Given the description of an element on the screen output the (x, y) to click on. 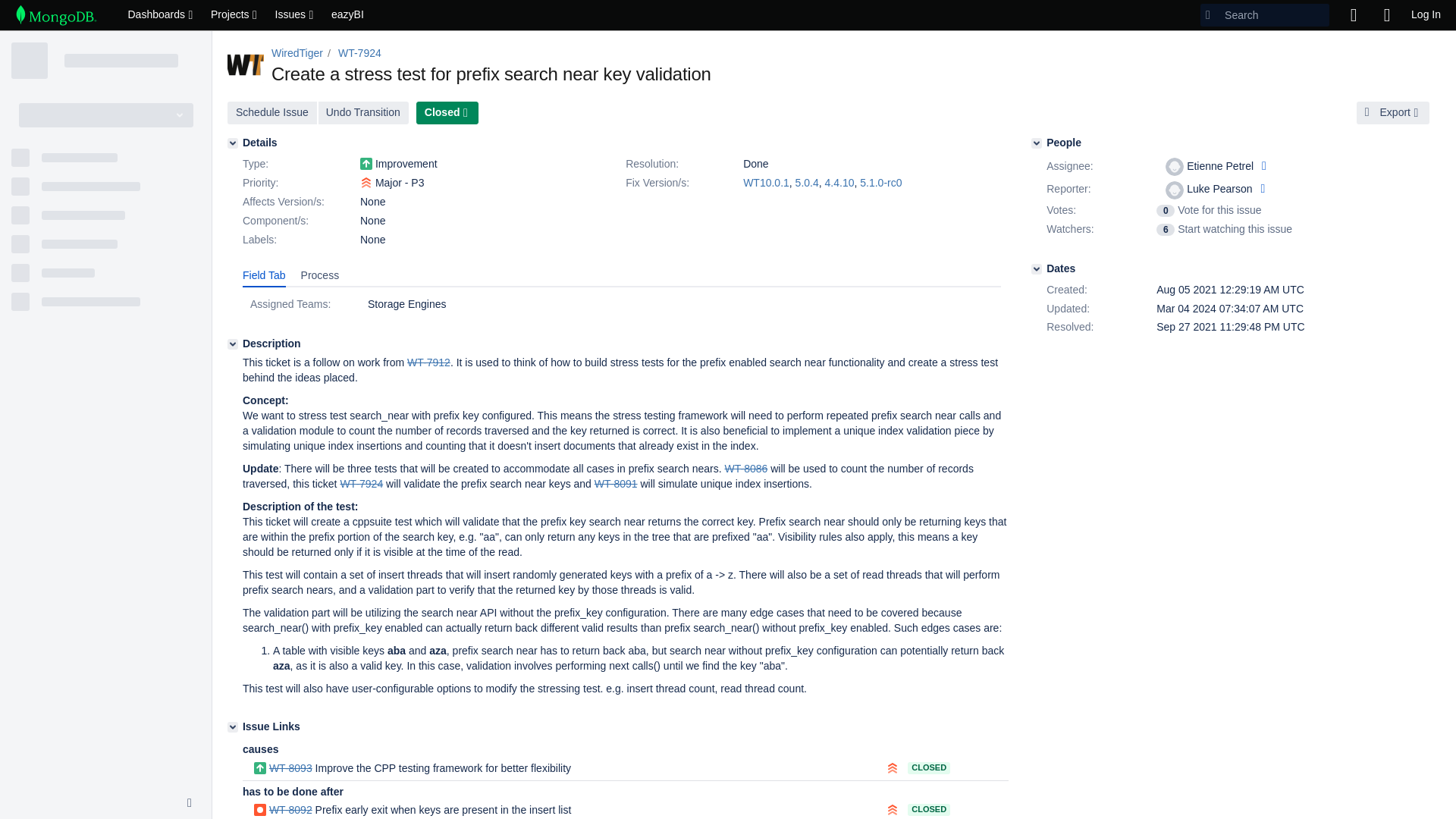
Process (320, 275)
5.1.0-rc0 (880, 182)
Closed (447, 112)
Log In (1425, 15)
View recent projects and browse a list of projects (235, 15)
5.1.0-rc0  (880, 182)
Give feedback to Atlassian (1353, 15)
Projects (235, 15)
Export (1392, 112)
WT-8086 (745, 468)
4.4.10 (839, 182)
Create a stress test for prefix search near key validation (360, 483)
Help (1386, 15)
Undo Transition (363, 112)
View and manage your dashboards (161, 15)
